Given the description of an element on the screen output the (x, y) to click on. 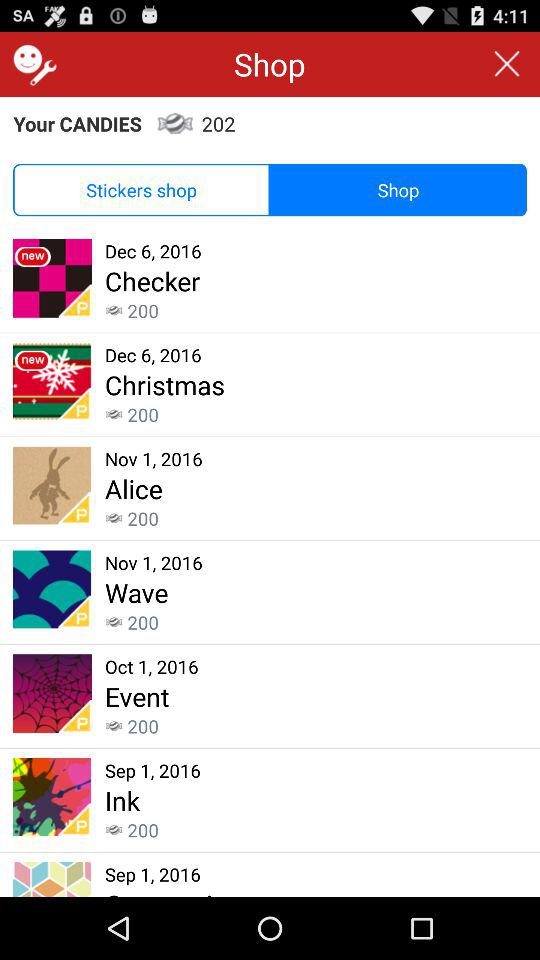
press the checker app (152, 280)
